Given the description of an element on the screen output the (x, y) to click on. 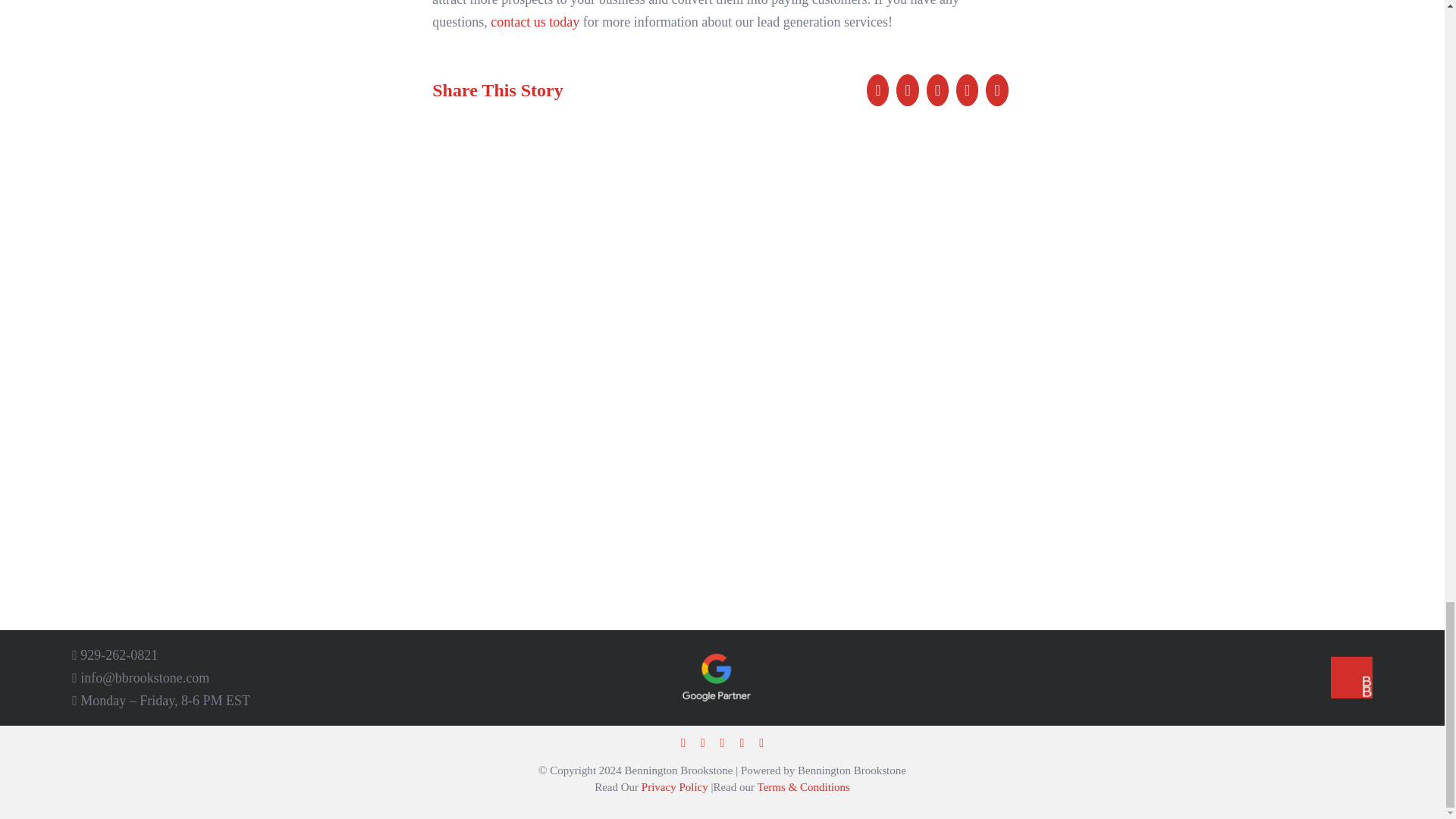
contact us today (534, 21)
Privacy Policy (674, 787)
LinkedIn (937, 89)
Vk (996, 89)
Pinterest (966, 89)
Google partner (716, 677)
Facebook (877, 89)
X (906, 89)
